Given the description of an element on the screen output the (x, y) to click on. 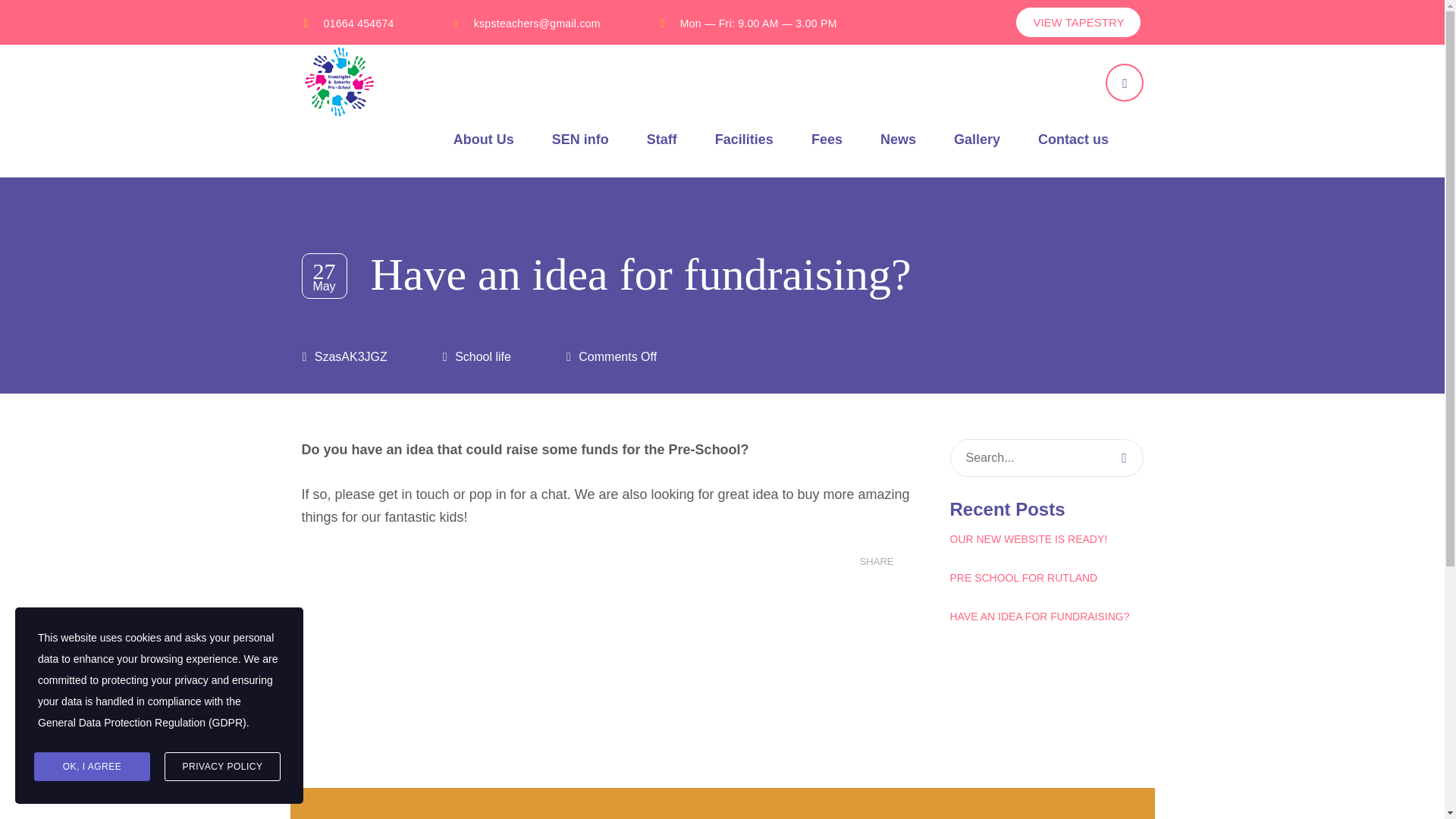
PRIVACY POLICY (222, 766)
OUR NEW WEBSITE IS READY! (1045, 538)
Contact us (1073, 139)
PRE SCHOOL FOR RUTLAND (1045, 577)
SzasAK3JGZ (350, 356)
HAVE AN IDEA FOR FUNDRAISING? (1045, 616)
School life (482, 356)
VIEW TAPESTRY (1078, 21)
OK, I AGREE (91, 766)
01664 454674 (358, 23)
